Given the description of an element on the screen output the (x, y) to click on. 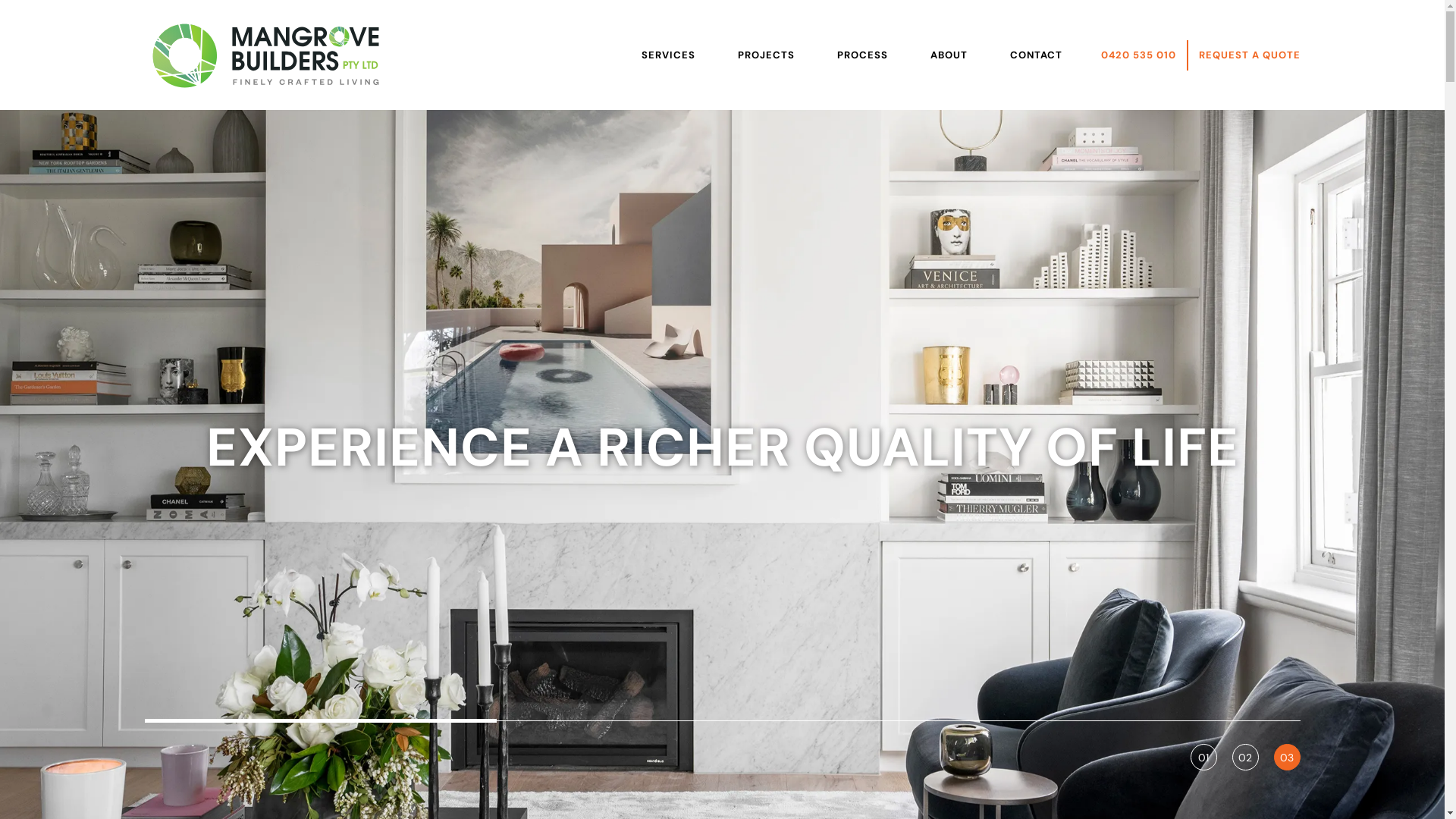
PROCESS Element type: text (861, 55)
REQUEST A QUOTE Element type: text (1248, 54)
CONTACT Element type: text (1035, 55)
SERVICES Element type: text (667, 55)
PROJECTS Element type: text (766, 55)
0420 535 010 Element type: text (1138, 54)
ABOUT Element type: text (948, 55)
